Given the description of an element on the screen output the (x, y) to click on. 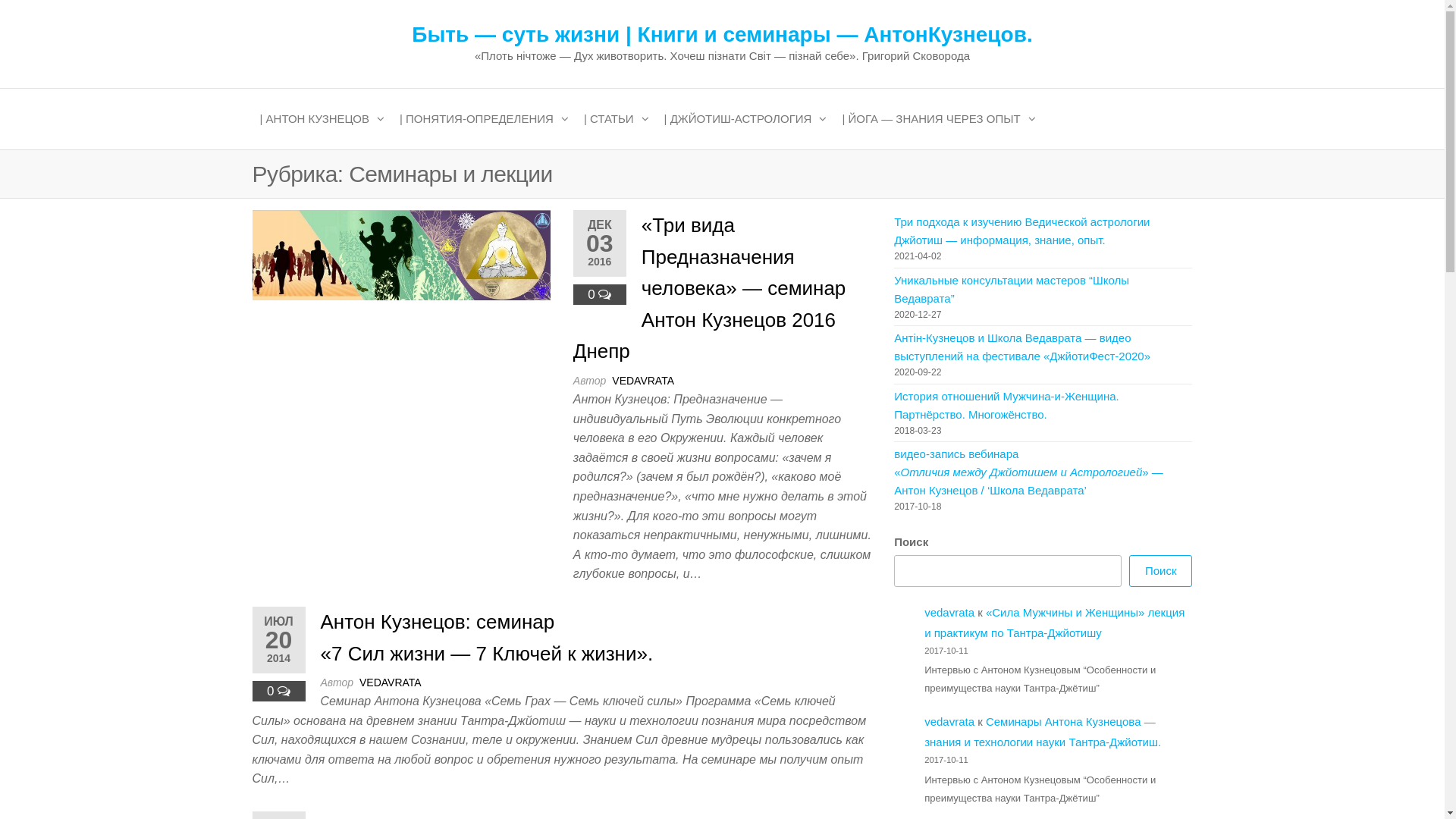
vedavrata Element type: text (949, 611)
vedavrata Element type: text (949, 721)
0 Element type: text (592, 294)
VEDAVRATA Element type: text (642, 380)
0 Element type: text (271, 691)
VEDAVRATA Element type: text (390, 682)
